Given the description of an element on the screen output the (x, y) to click on. 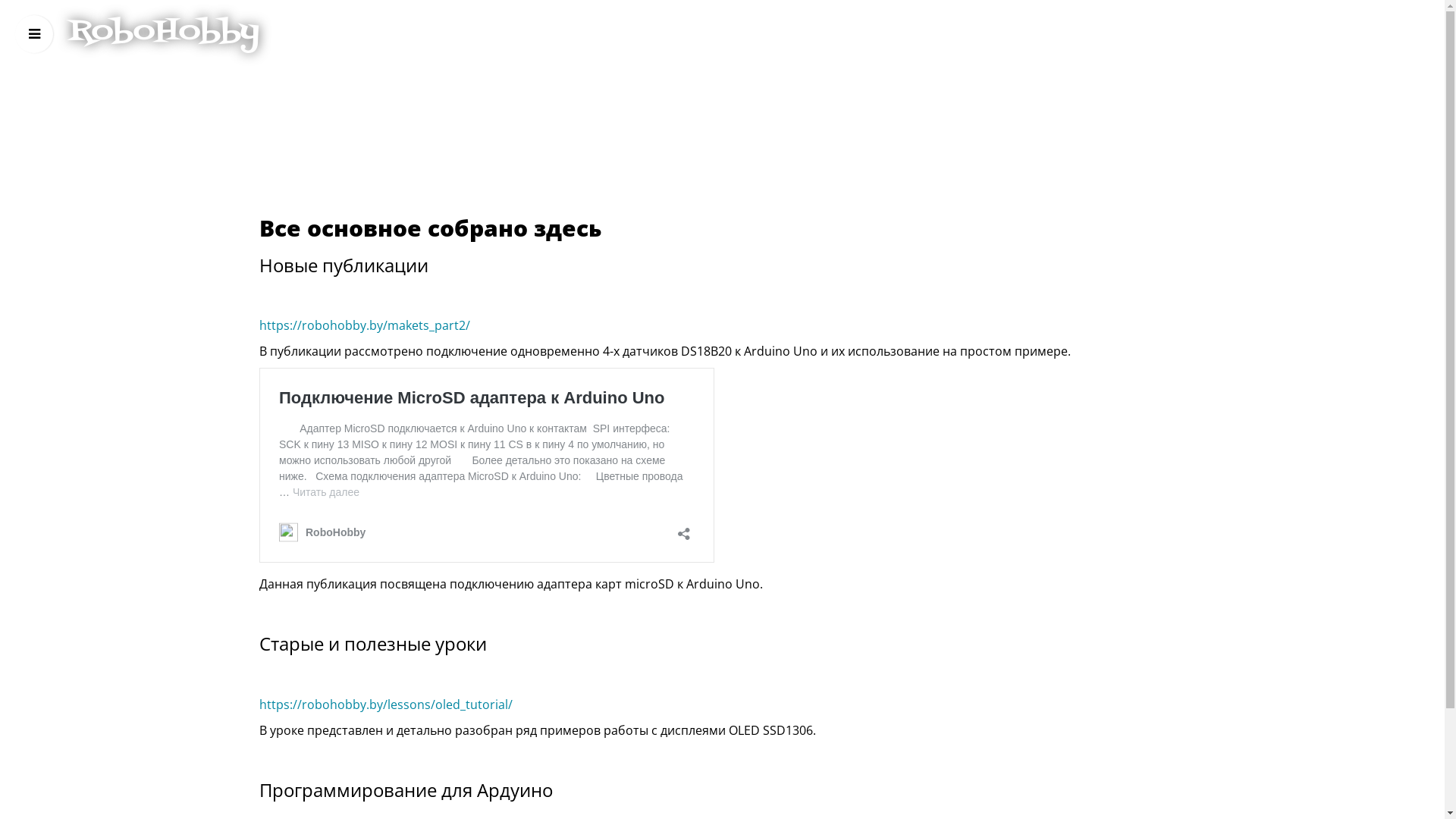
RoboHobby Element type: text (163, 31)
https://robohobby.by/lessons/oled_tutorial/ Element type: text (385, 704)
https://robohobby.by/makets_part2/ Element type: text (364, 324)
